Given the description of an element on the screen output the (x, y) to click on. 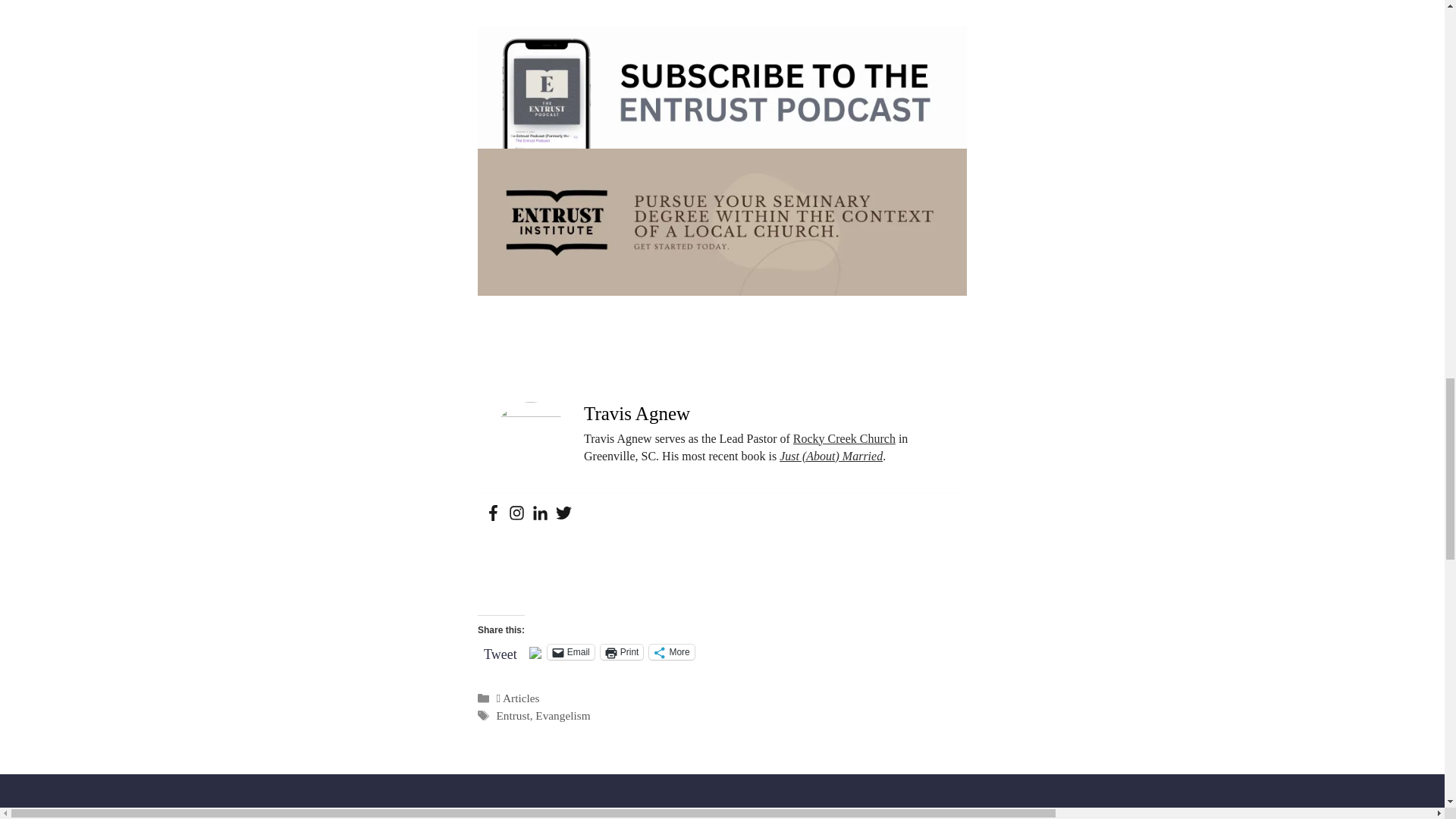
Travis Agnew (636, 413)
Print (621, 652)
More (671, 652)
Email (570, 652)
Tweet (499, 651)
Click to print (621, 652)
Rocky Creek Church (844, 438)
Click to email a link to a friend (570, 652)
